Given the description of an element on the screen output the (x, y) to click on. 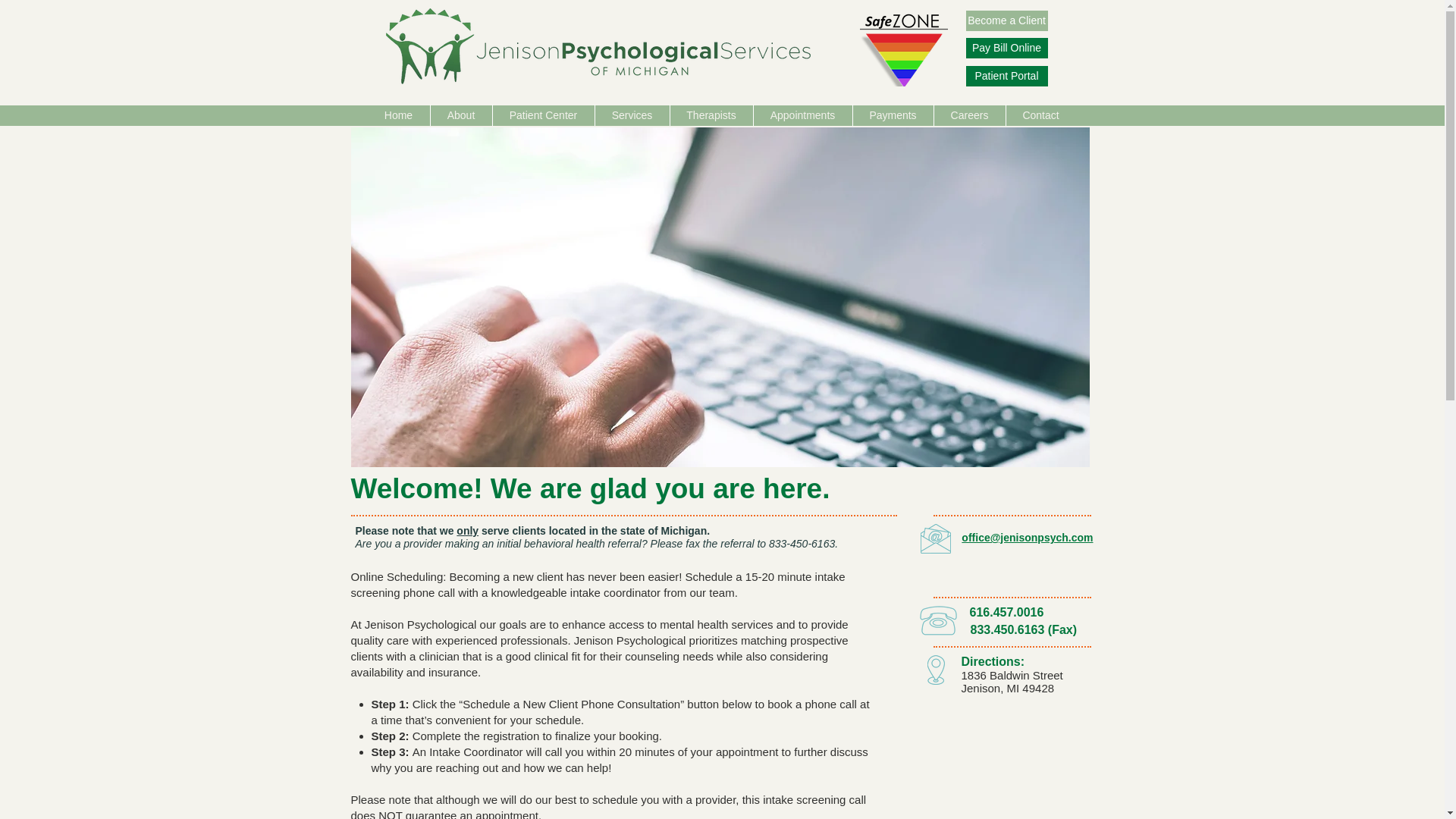
Safe Zone (903, 48)
About (461, 115)
Services (631, 115)
Become a Client (1007, 20)
Home (397, 115)
Patient Center (543, 115)
Payments (892, 115)
Careers (970, 115)
Patient Portal (1007, 76)
Appointments (802, 115)
Jenison Psychological Services Logo (597, 46)
Therapists (710, 115)
Contact (1040, 115)
Pay Bill Online (1007, 47)
